Given the description of an element on the screen output the (x, y) to click on. 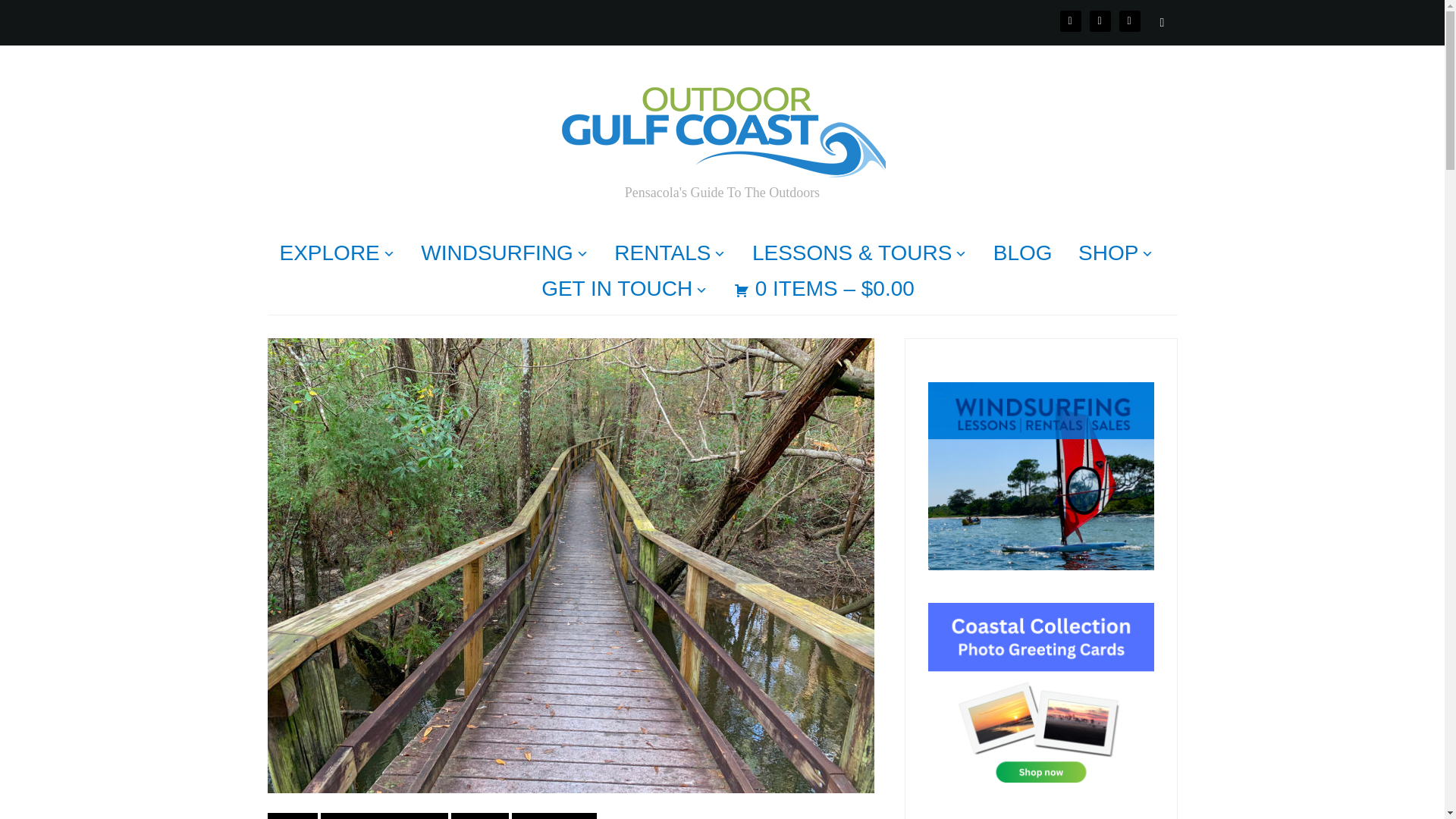
Facebook (1070, 20)
Search (1161, 22)
YOUTUBE (1129, 20)
INSTAGRAM (1099, 20)
FACEBOOK (1070, 20)
Default Label (1129, 20)
Instagram (1099, 20)
View your shopping cart (823, 289)
